Given the description of an element on the screen output the (x, y) to click on. 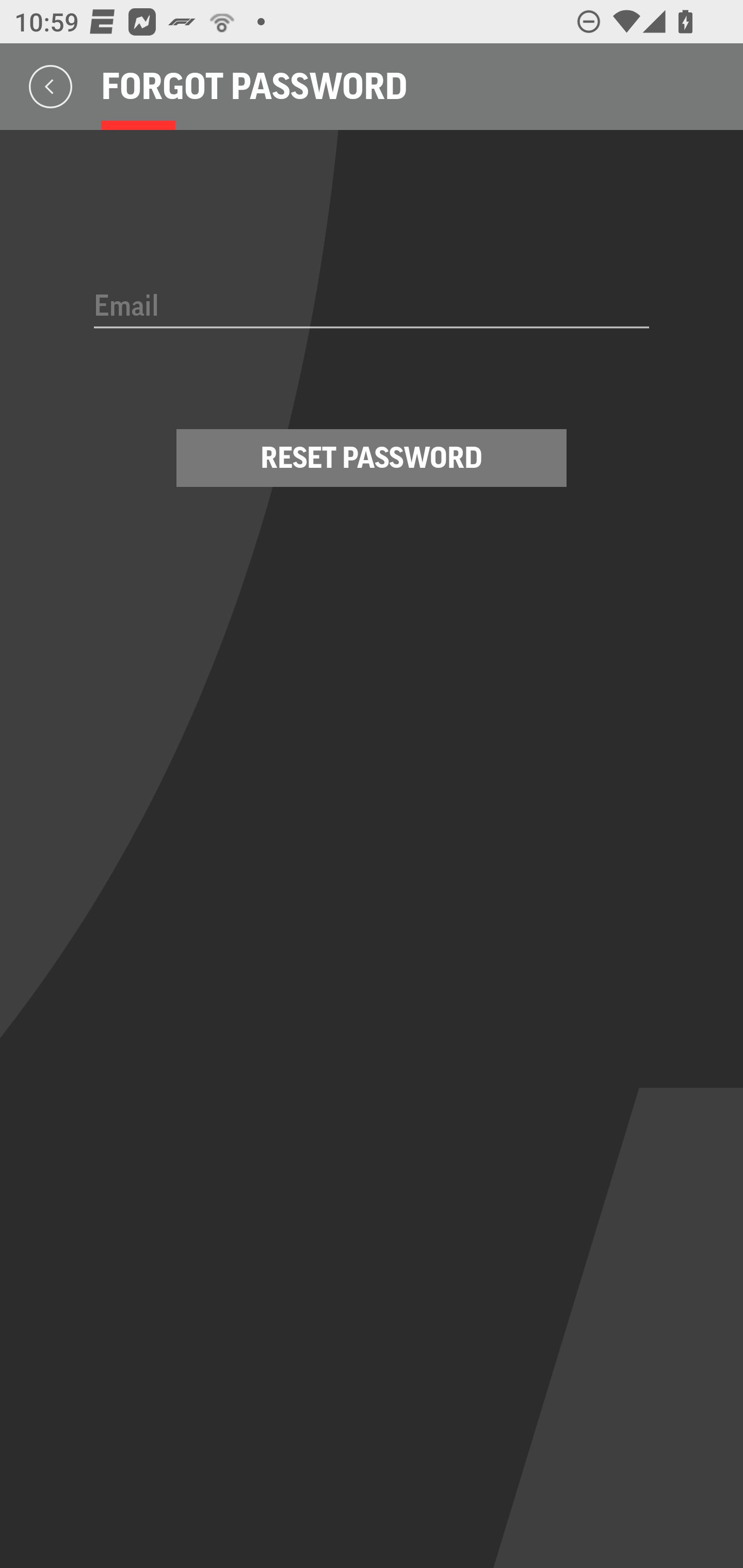
Email (371, 306)
RESET PASSWORD (371, 458)
